Given the description of an element on the screen output the (x, y) to click on. 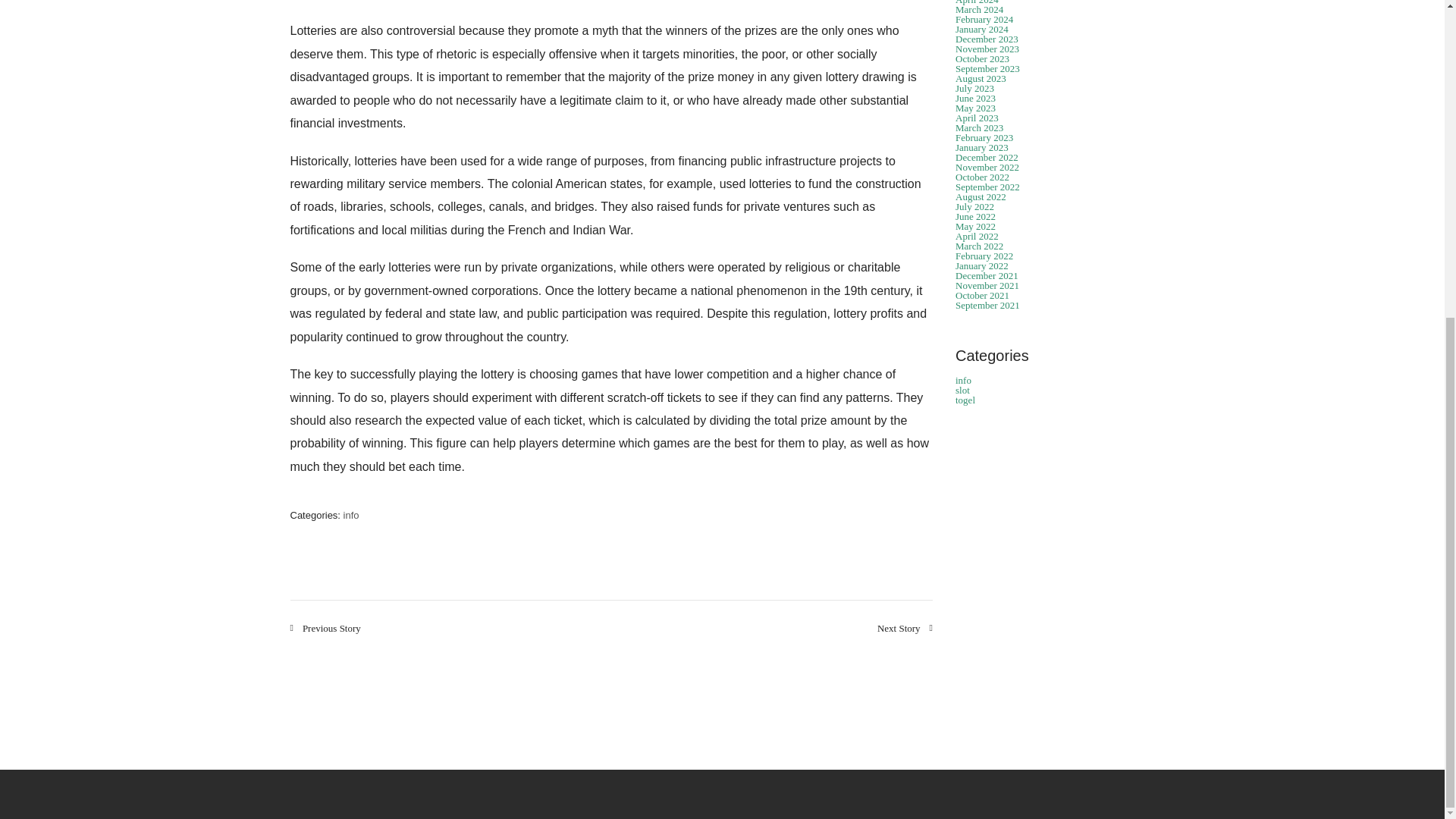
April 2023 (976, 117)
January 2024 (982, 29)
Next Story (905, 628)
September 2023 (987, 68)
April 2024 (976, 2)
November 2023 (987, 48)
July 2023 (974, 88)
October 2022 (982, 176)
October 2023 (982, 58)
August 2023 (980, 78)
December 2022 (986, 156)
December 2023 (986, 39)
March 2024 (979, 9)
August 2022 (980, 196)
info (351, 514)
